Given the description of an element on the screen output the (x, y) to click on. 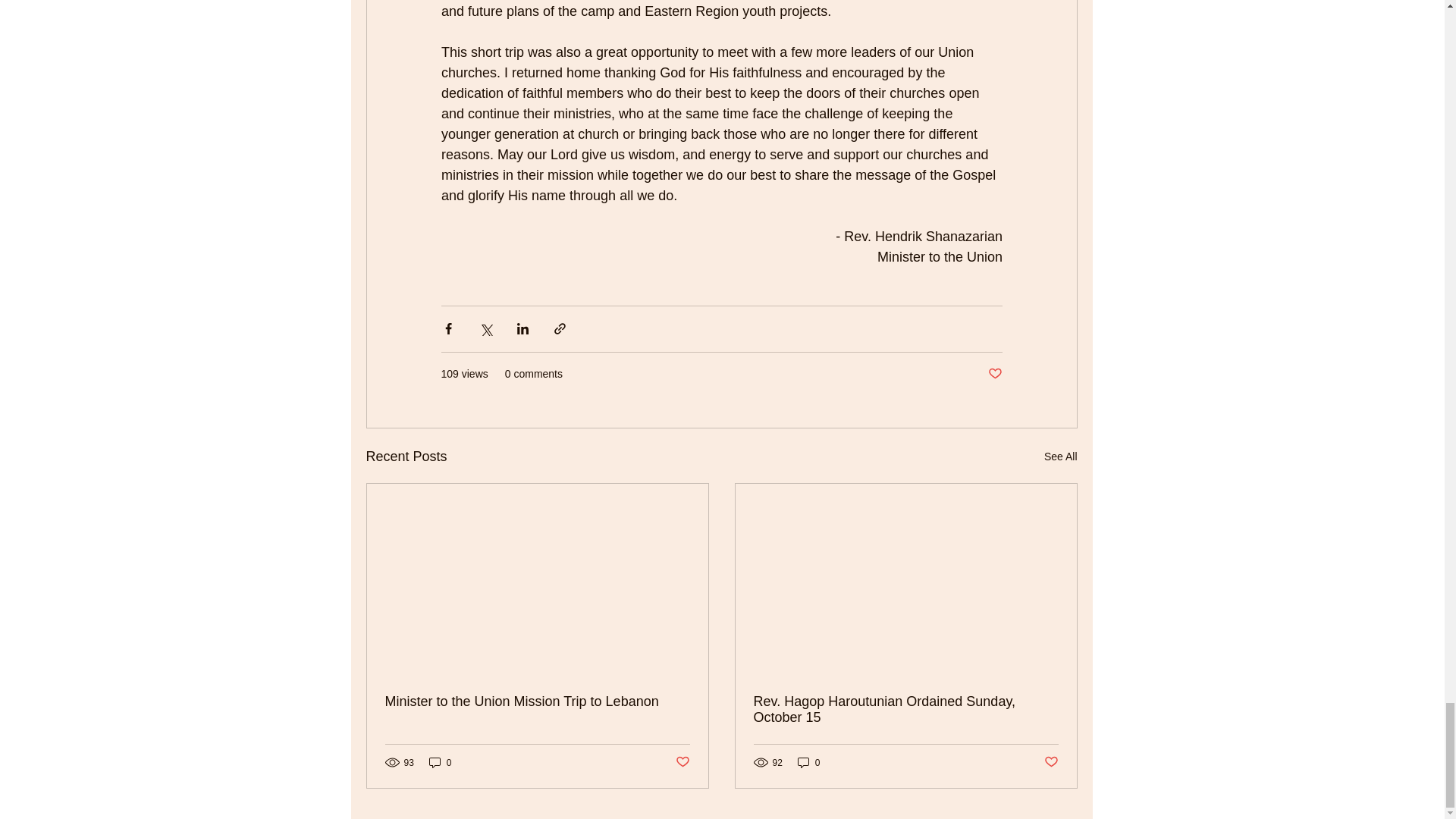
0 (440, 762)
0 (809, 762)
Minister to the Union Mission Trip to Lebanon (537, 701)
Rev. Hagop Haroutunian Ordained Sunday, October 15 (906, 709)
Post not marked as liked (1050, 762)
See All (1060, 456)
Post not marked as liked (681, 762)
Post not marked as liked (994, 374)
